Given the description of an element on the screen output the (x, y) to click on. 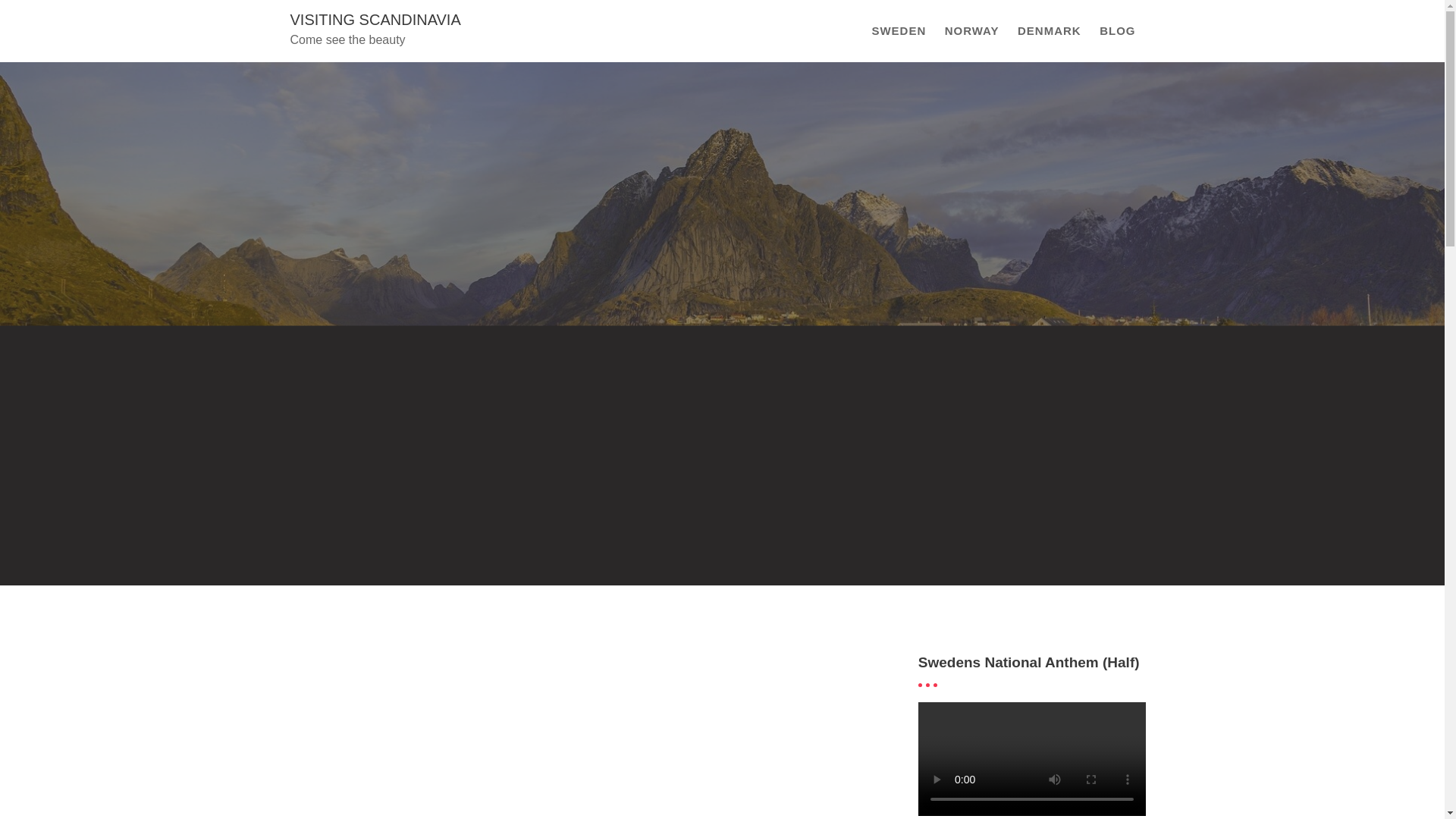
NORWAY (972, 30)
Visiting Scandinavia (374, 19)
SWEDEN (898, 30)
DENMARK (1049, 30)
VISITING SCANDINAVIA (374, 19)
